Given the description of an element on the screen output the (x, y) to click on. 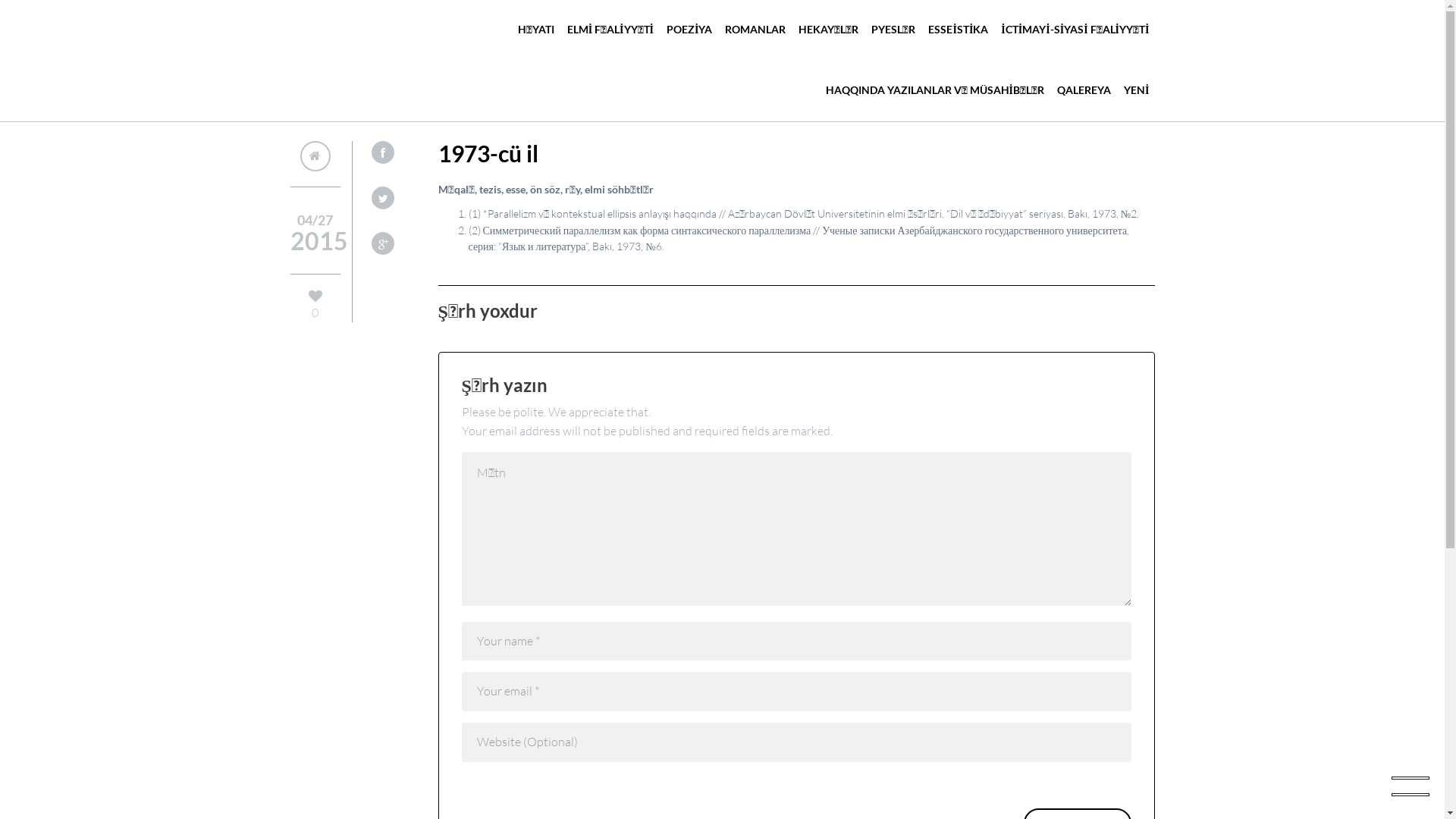
Menu Element type: text (1410, 784)
QALEREYA Element type: text (1083, 91)
ROMANLAR Element type: text (754, 30)
0 Element type: text (314, 305)
